Given the description of an element on the screen output the (x, y) to click on. 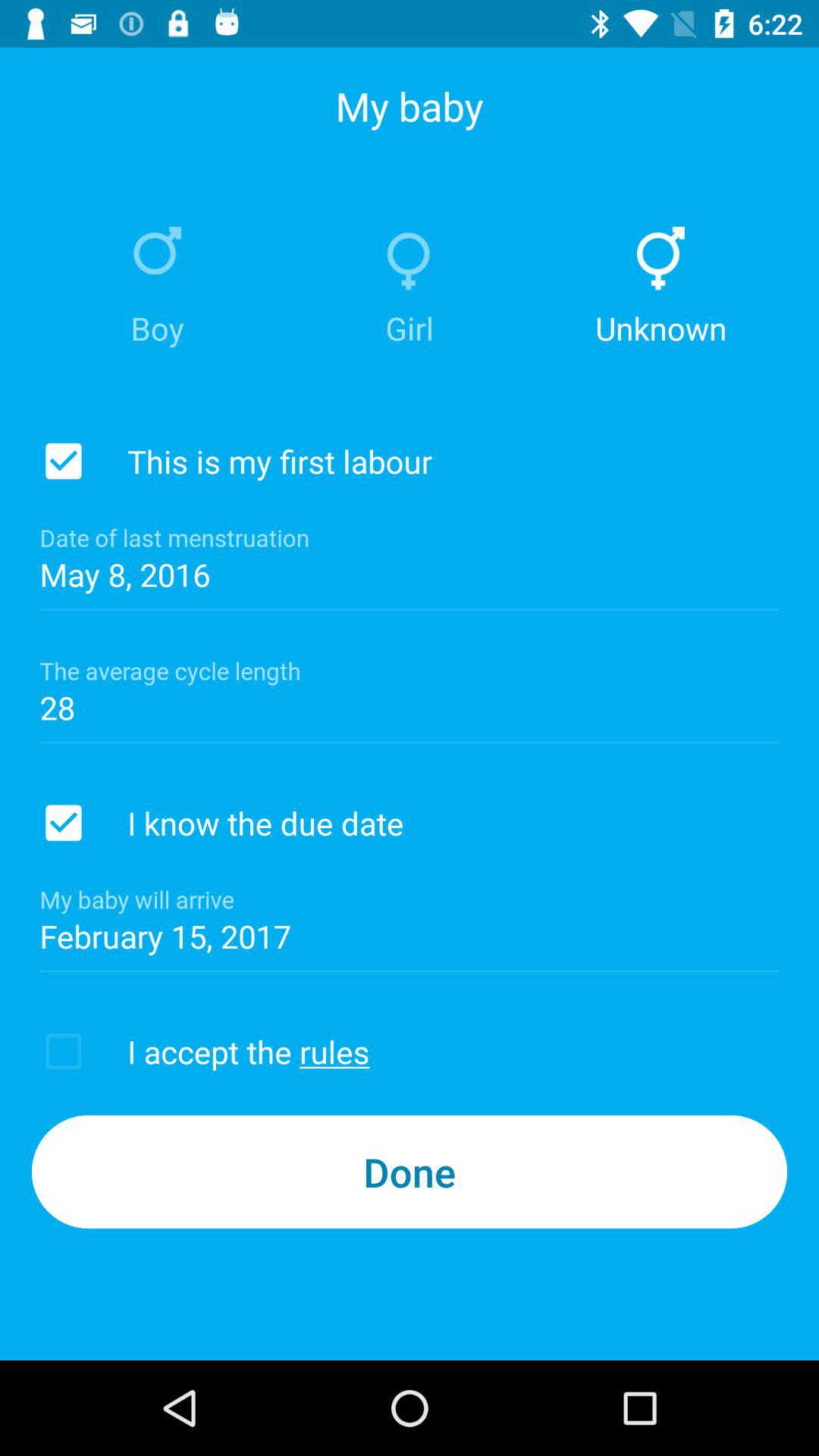
click to disable (63, 822)
